Given the description of an element on the screen output the (x, y) to click on. 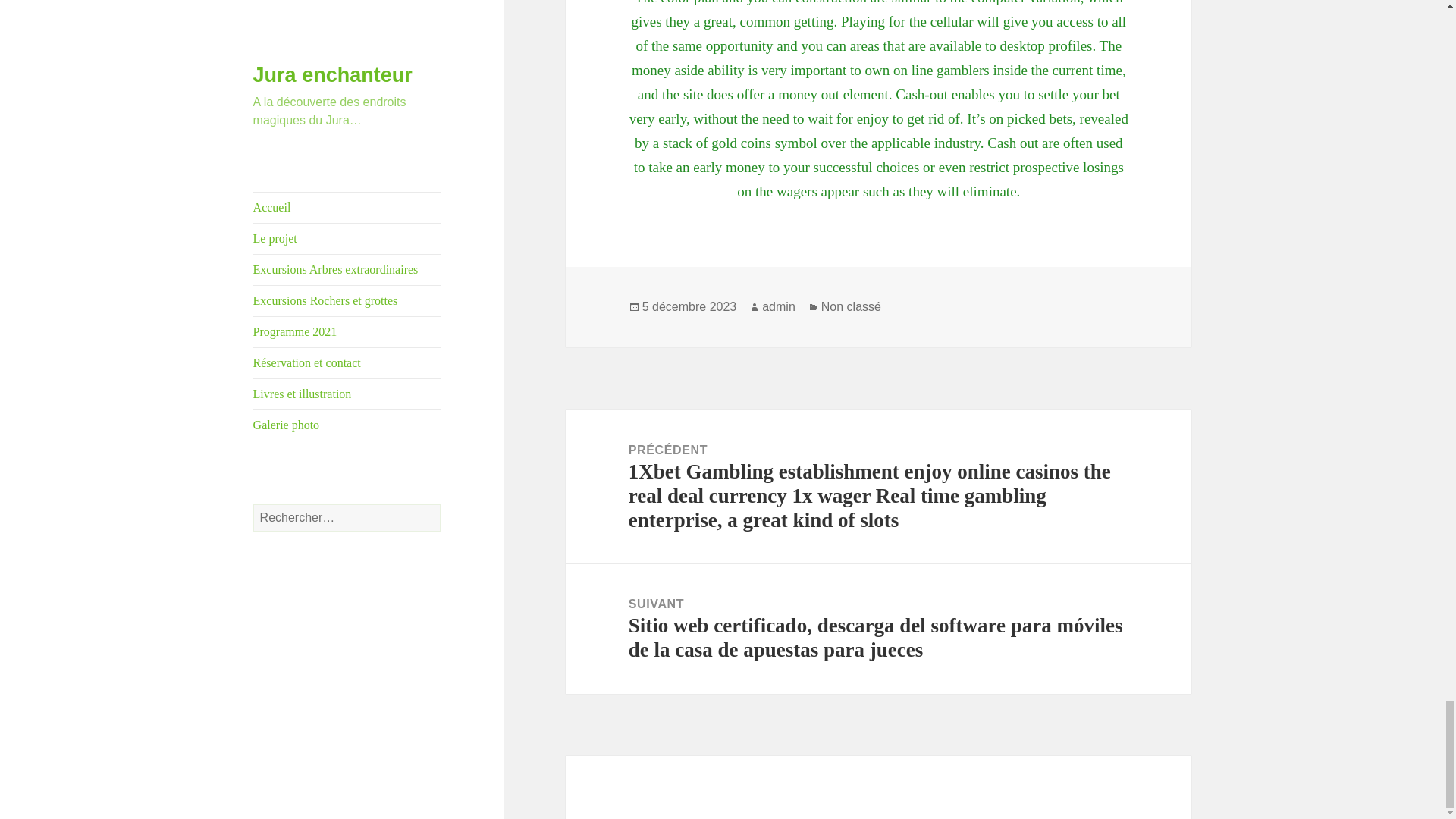
admin (777, 306)
